Given the description of an element on the screen output the (x, y) to click on. 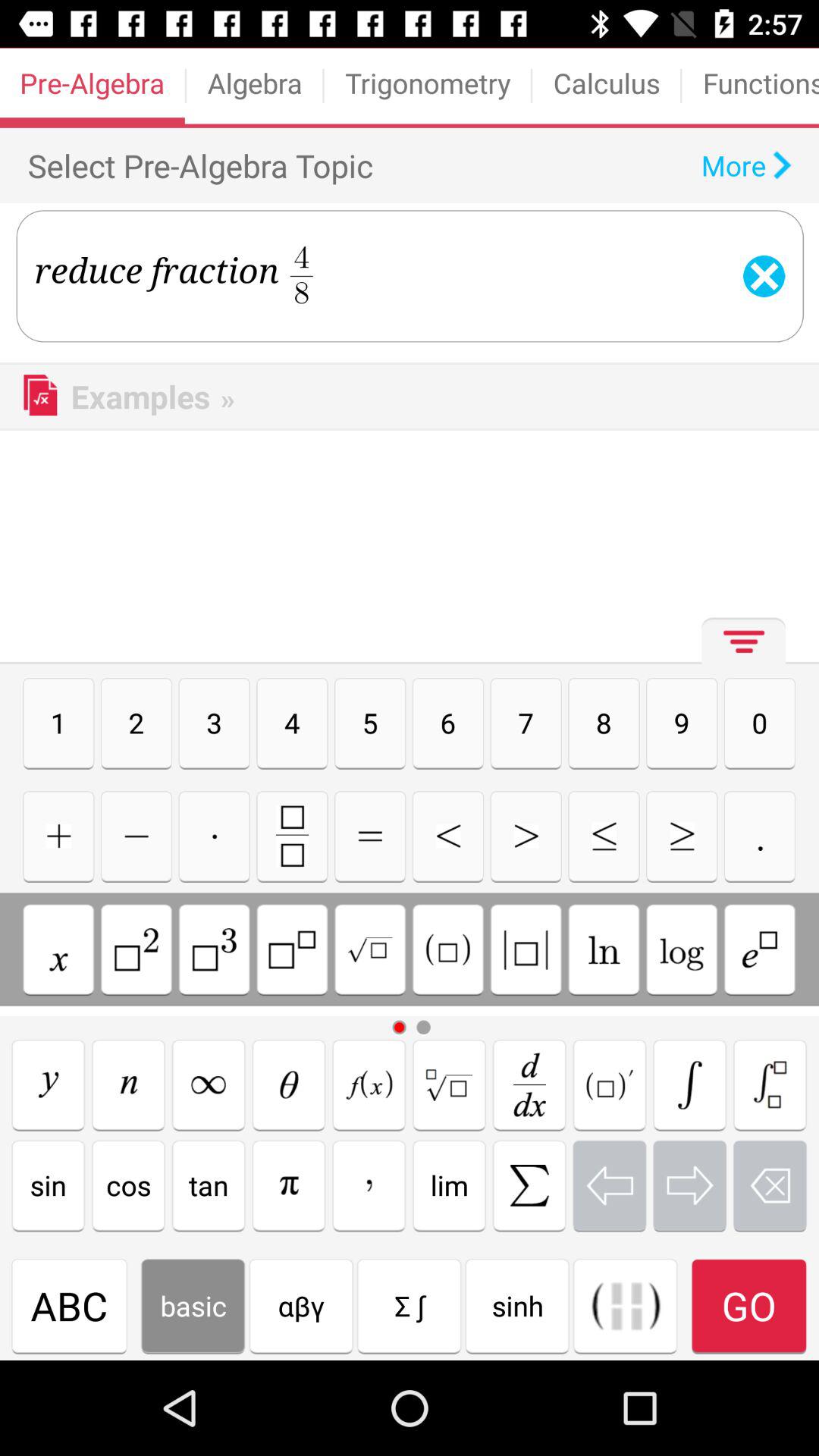
write mathematical function (769, 1084)
